Given the description of an element on the screen output the (x, y) to click on. 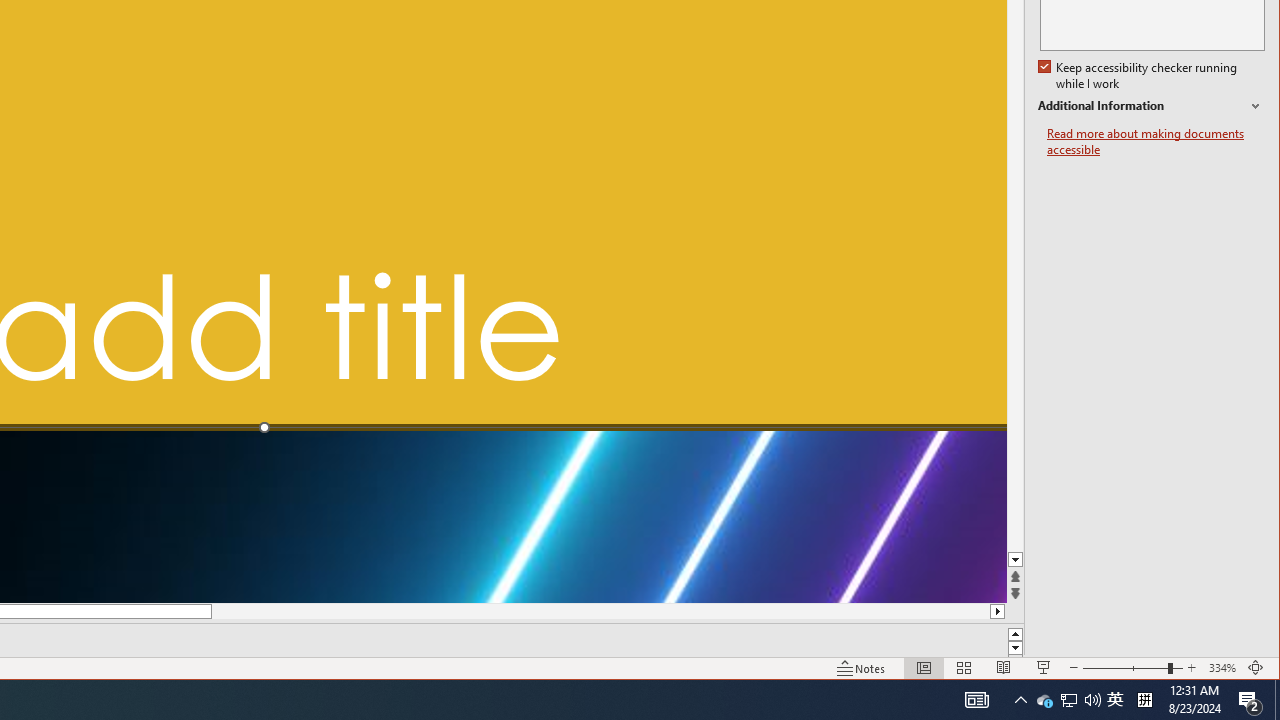
Action Center, 2 new notifications (1250, 699)
Additional Information (1151, 106)
